Given the description of an element on the screen output the (x, y) to click on. 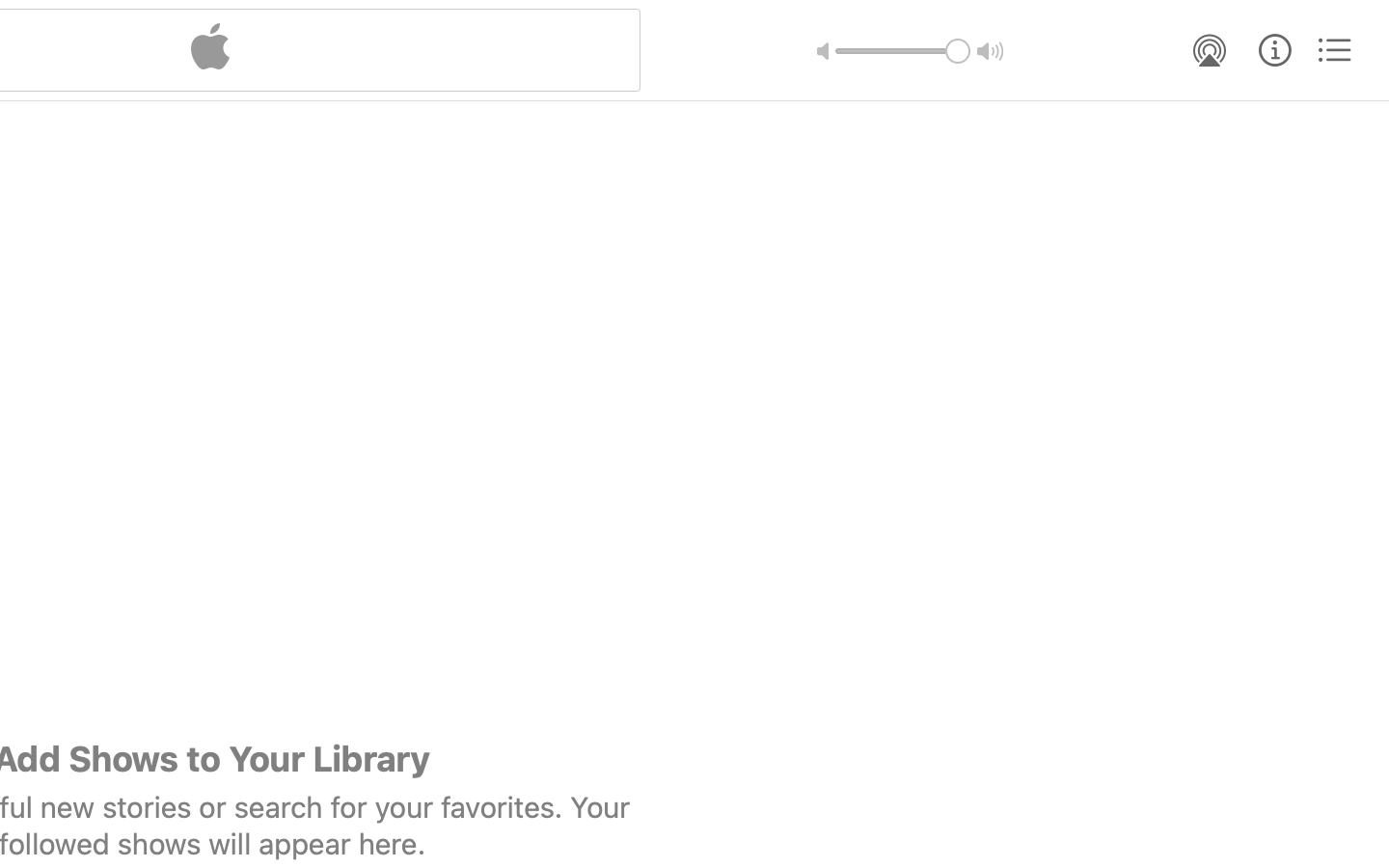
1.0 Element type: AXSlider (902, 50)
